Given the description of an element on the screen output the (x, y) to click on. 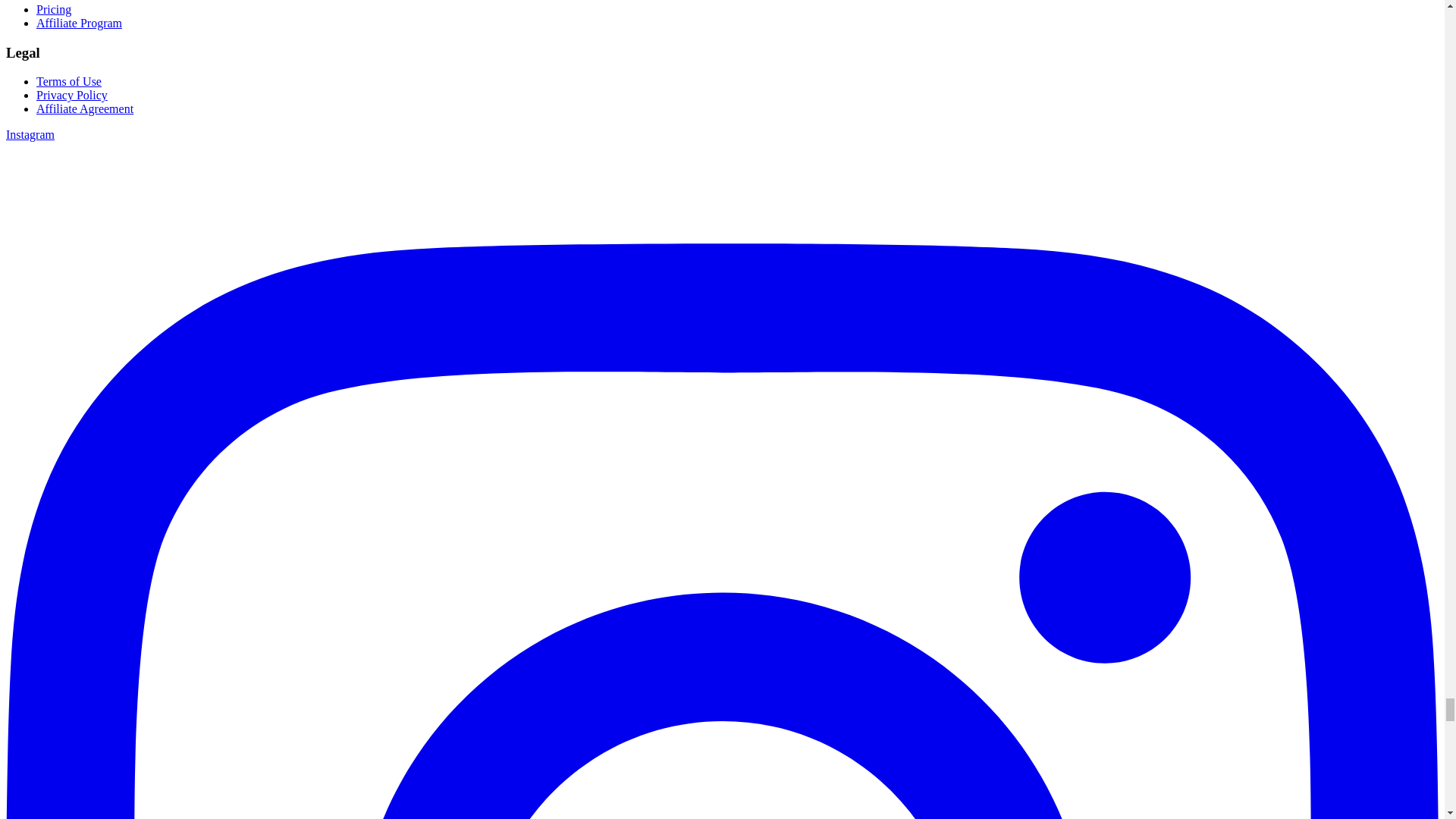
Affiliate Program (79, 22)
Privacy Policy (71, 94)
Pricing (53, 9)
Terms of Use (68, 81)
